Given the description of an element on the screen output the (x, y) to click on. 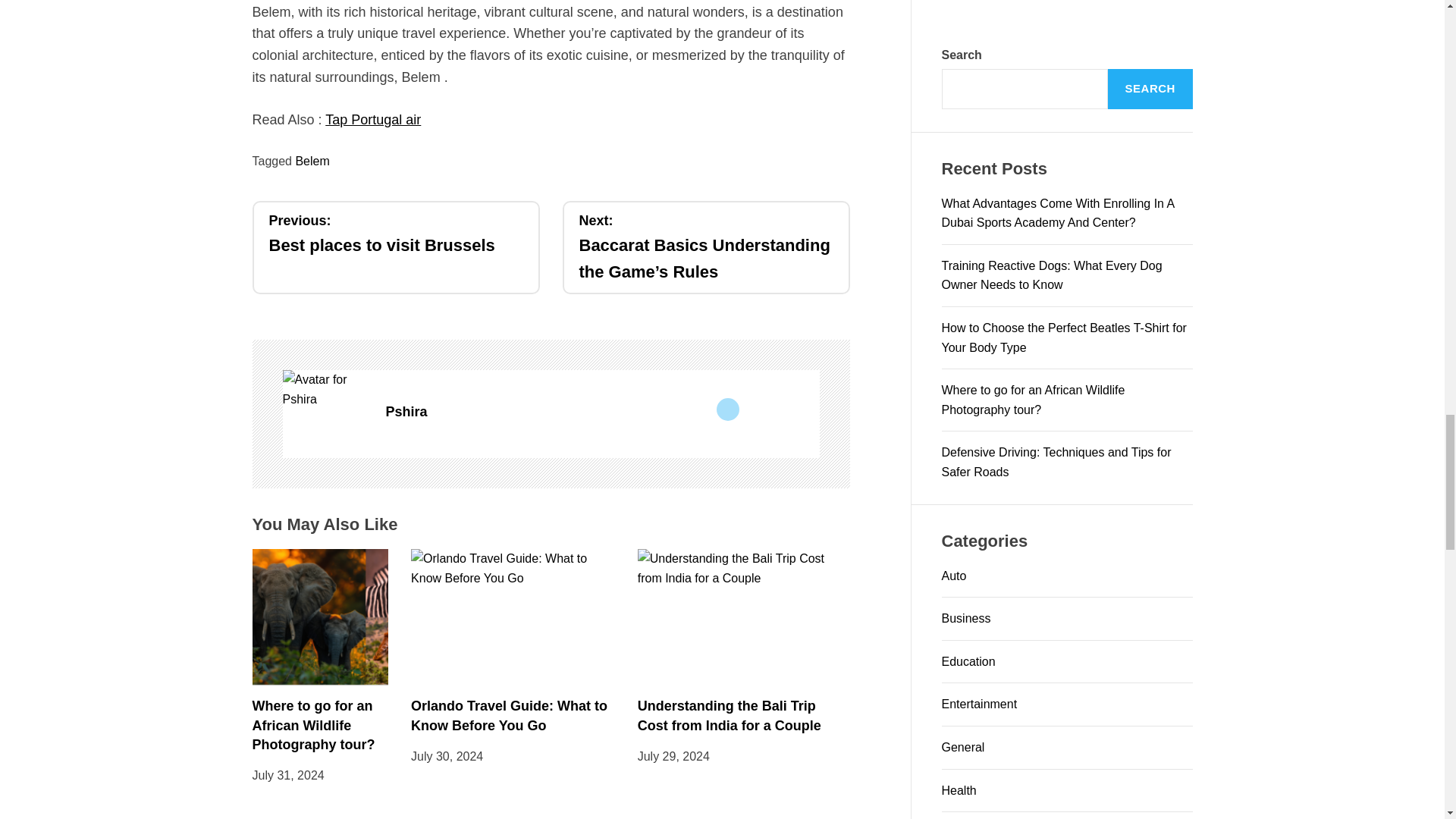
Pshira (601, 412)
Pshira (325, 389)
Belem (312, 160)
Tap Portugal air (394, 233)
